Given the description of an element on the screen output the (x, y) to click on. 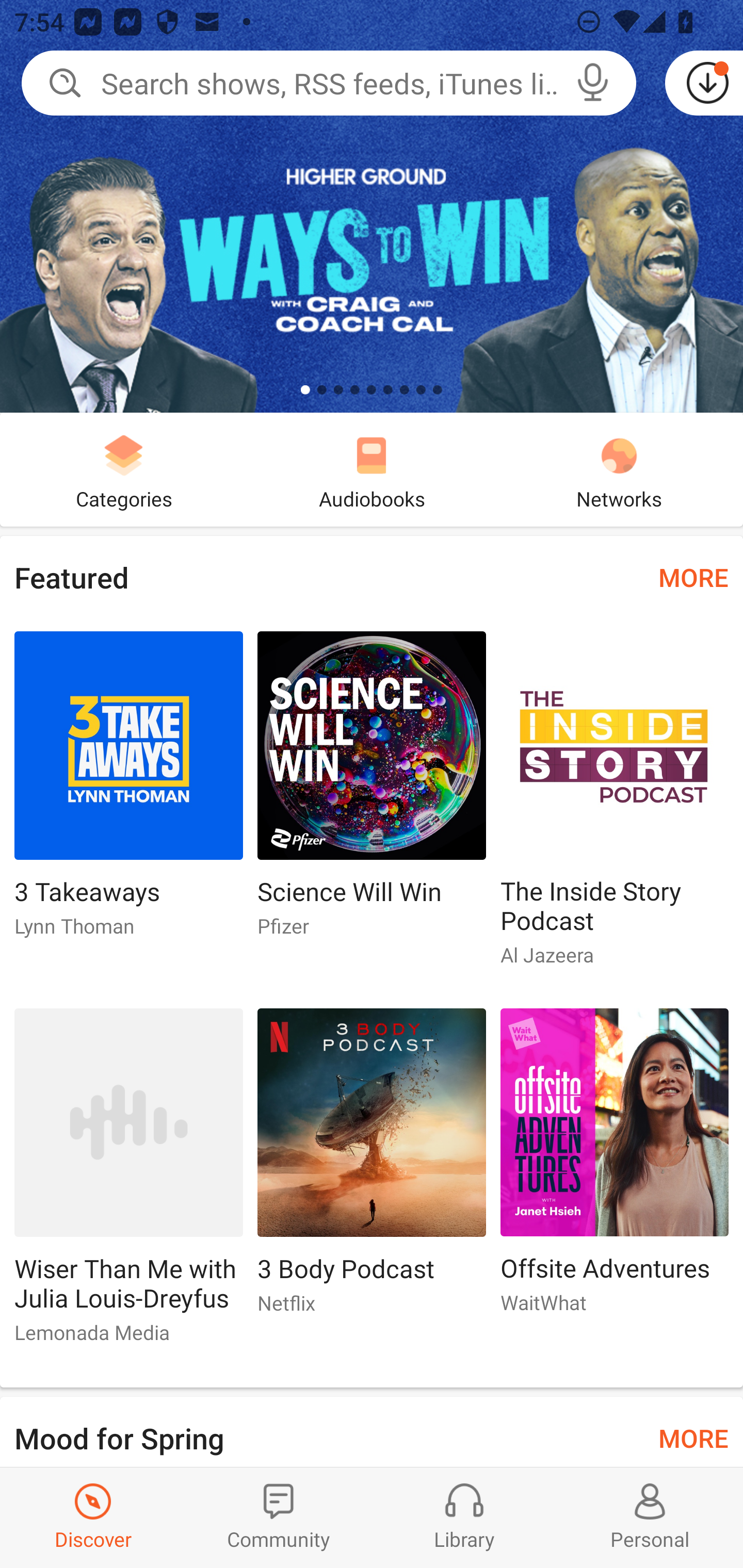
Ways To Win (371, 206)
Categories (123, 469)
Audiobooks (371, 469)
Networks (619, 469)
MORE (693, 576)
3 Takeaways 3 Takeaways Lynn Thoman (128, 792)
Science Will Win Science Will Win Pfizer (371, 792)
3 Body Podcast 3 Body Podcast Netflix (371, 1169)
Offsite Adventures Offsite Adventures WaitWhat (614, 1168)
MORE (693, 1436)
Discover (92, 1517)
Community (278, 1517)
Library (464, 1517)
Profiles and Settings Personal (650, 1517)
